Given the description of an element on the screen output the (x, y) to click on. 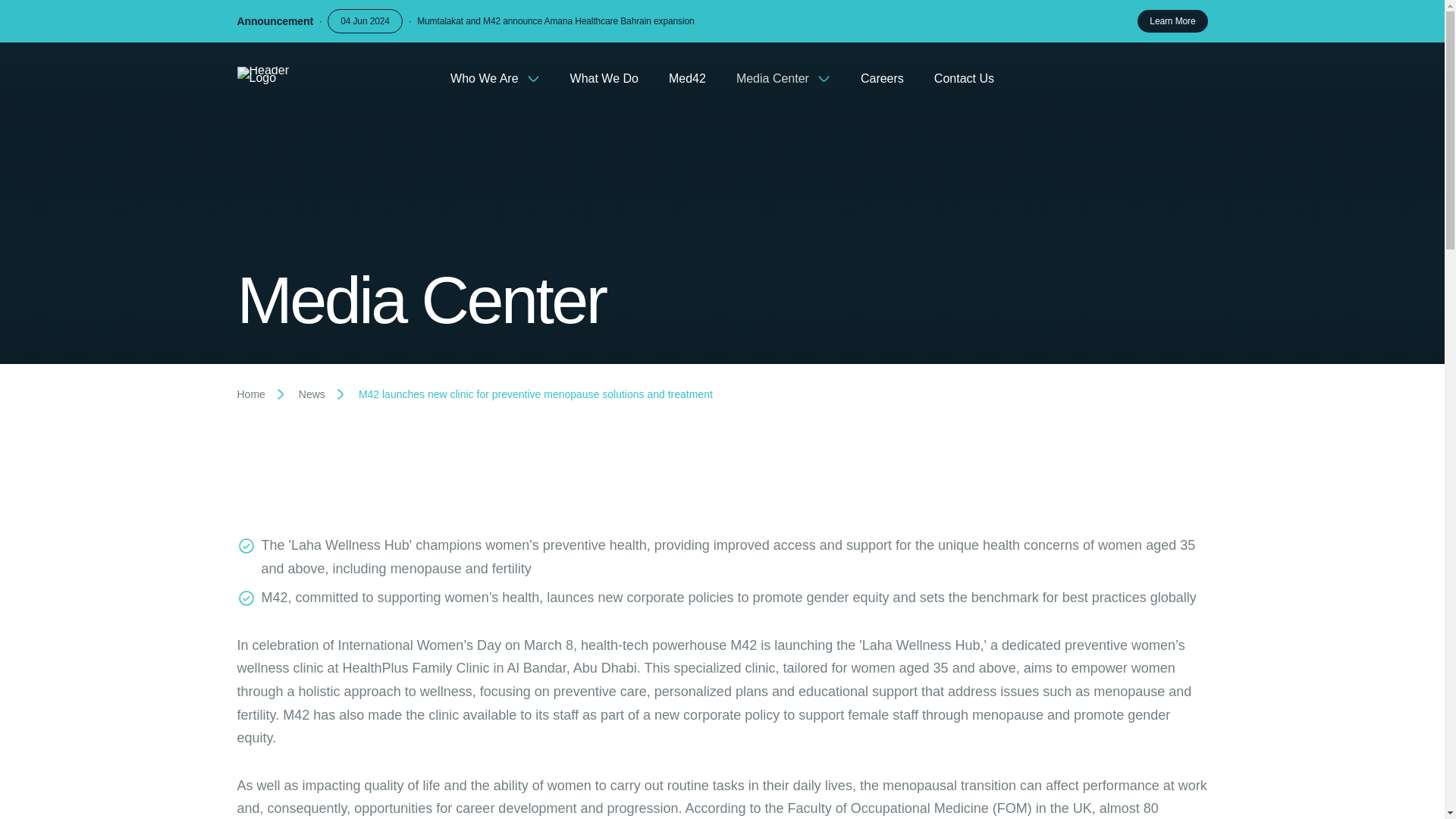
Careers (882, 78)
Media Center (624, 299)
Contact Us (964, 78)
Media Center (782, 78)
What We Do (604, 78)
Med42 (687, 78)
Learn More (1172, 20)
Home (249, 394)
News (311, 394)
Who We Are (494, 78)
